Given the description of an element on the screen output the (x, y) to click on. 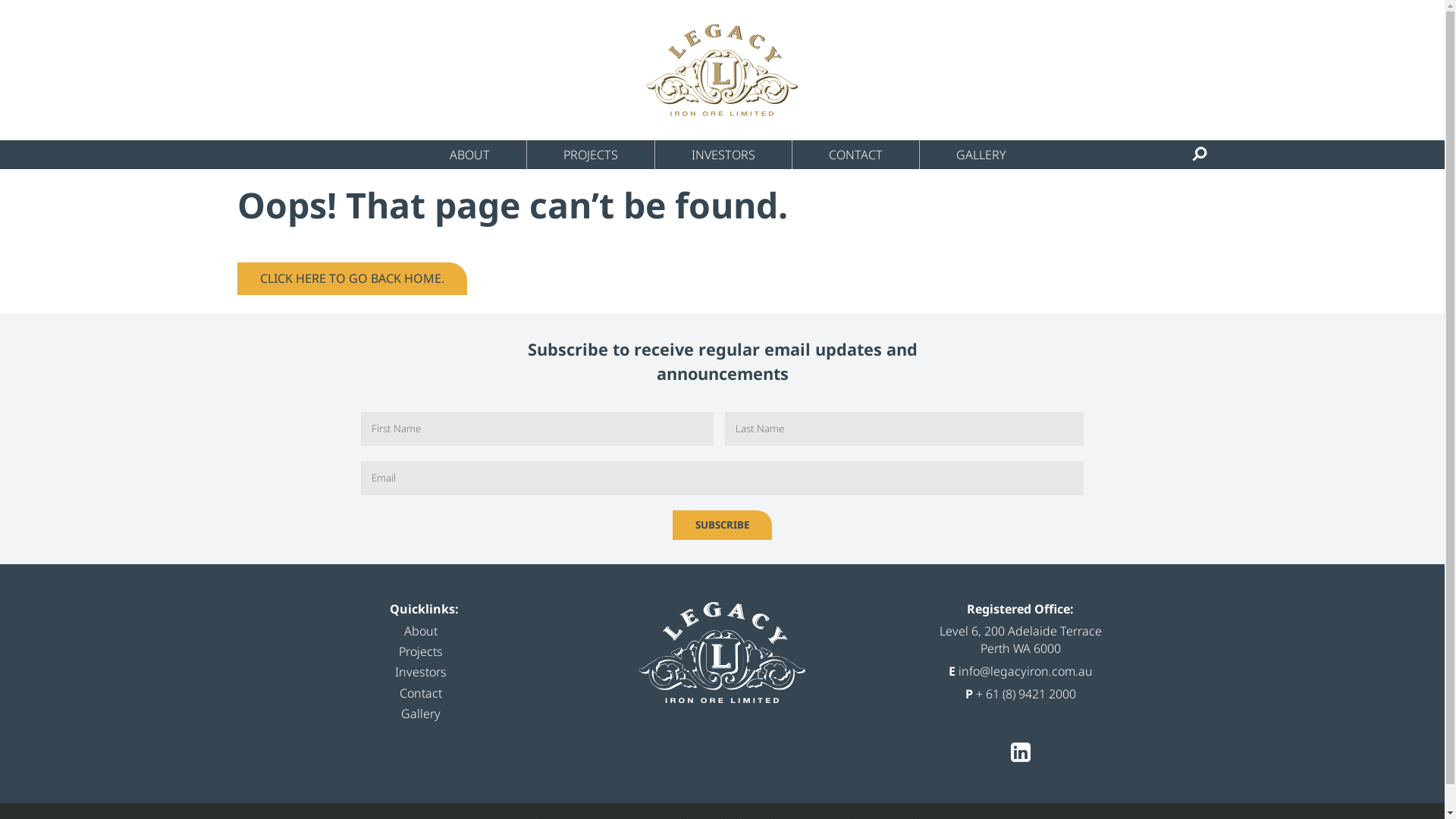
ABOUT Element type: text (470, 154)
LinkedIn Element type: text (1020, 752)
PROJECTS Element type: text (591, 154)
INVESTORS Element type: text (723, 154)
Investors Element type: text (420, 671)
info@legacyiron.com.au Element type: text (1025, 670)
Projects Element type: text (420, 651)
Subscribe Element type: text (721, 524)
Gallery Element type: text (420, 713)
CLICK HERE TO GO BACK HOME. Element type: text (351, 278)
About Element type: text (420, 630)
GALLERY Element type: text (980, 154)
Contact Element type: text (420, 692)
CONTACT Element type: text (855, 154)
